Given the description of an element on the screen output the (x, y) to click on. 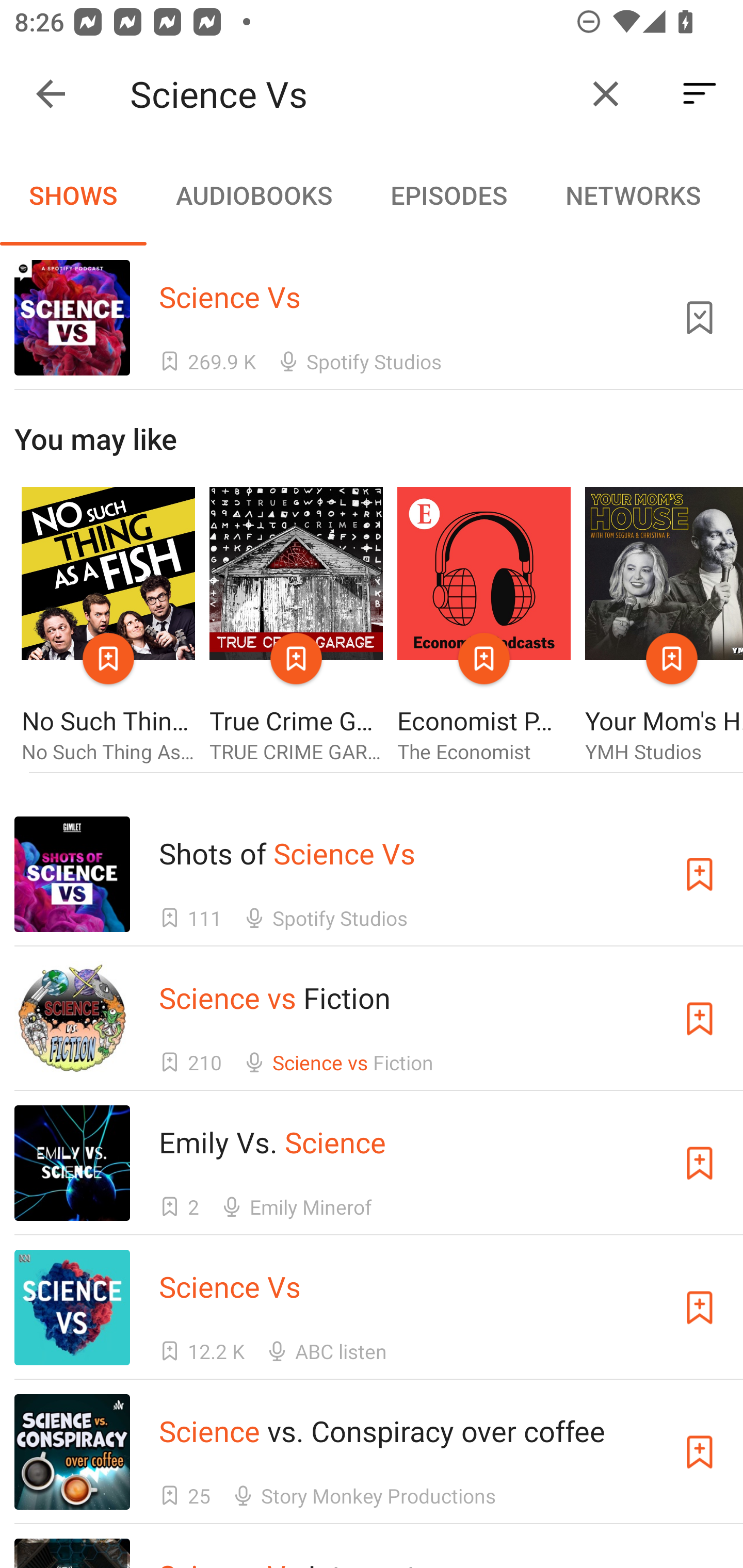
Collapse (50, 93)
Clear query (605, 93)
Sort By (699, 93)
Science Vs (349, 94)
SHOWS (73, 195)
AUDIOBOOKS (253, 195)
EPISODES (448, 195)
NETWORKS (632, 195)
Unsubscribe (699, 317)
No Such Thing As A Fish (107, 626)
True Crime Garage TRUE CRIME GARAGE (295, 626)
Economist Podcasts The Economist (483, 626)
Subscribe (699, 873)
Subscribe (699, 1019)
Subscribe (699, 1163)
Subscribe (699, 1307)
Subscribe (699, 1451)
